Given the description of an element on the screen output the (x, y) to click on. 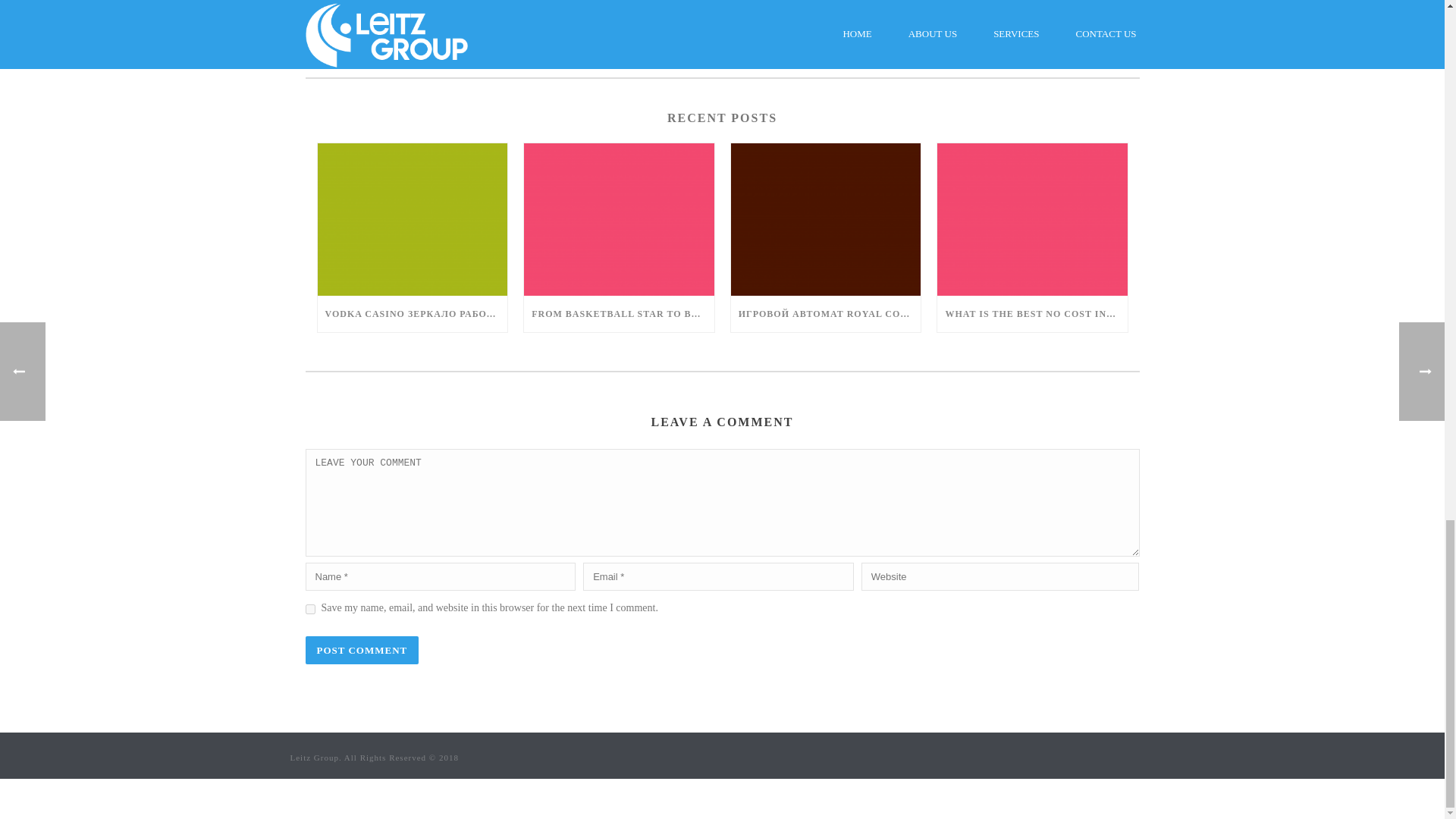
POST COMMENT (361, 650)
What is the Best No cost International Going out with Site? (1031, 219)
admin (721, 13)
POST COMMENT (361, 650)
Get in touch with me via email (374, 39)
yes (309, 609)
WHAT IS THE BEST NO COST INTERNATIONAL GOING OUT WITH SITE? (1031, 313)
